Given the description of an element on the screen output the (x, y) to click on. 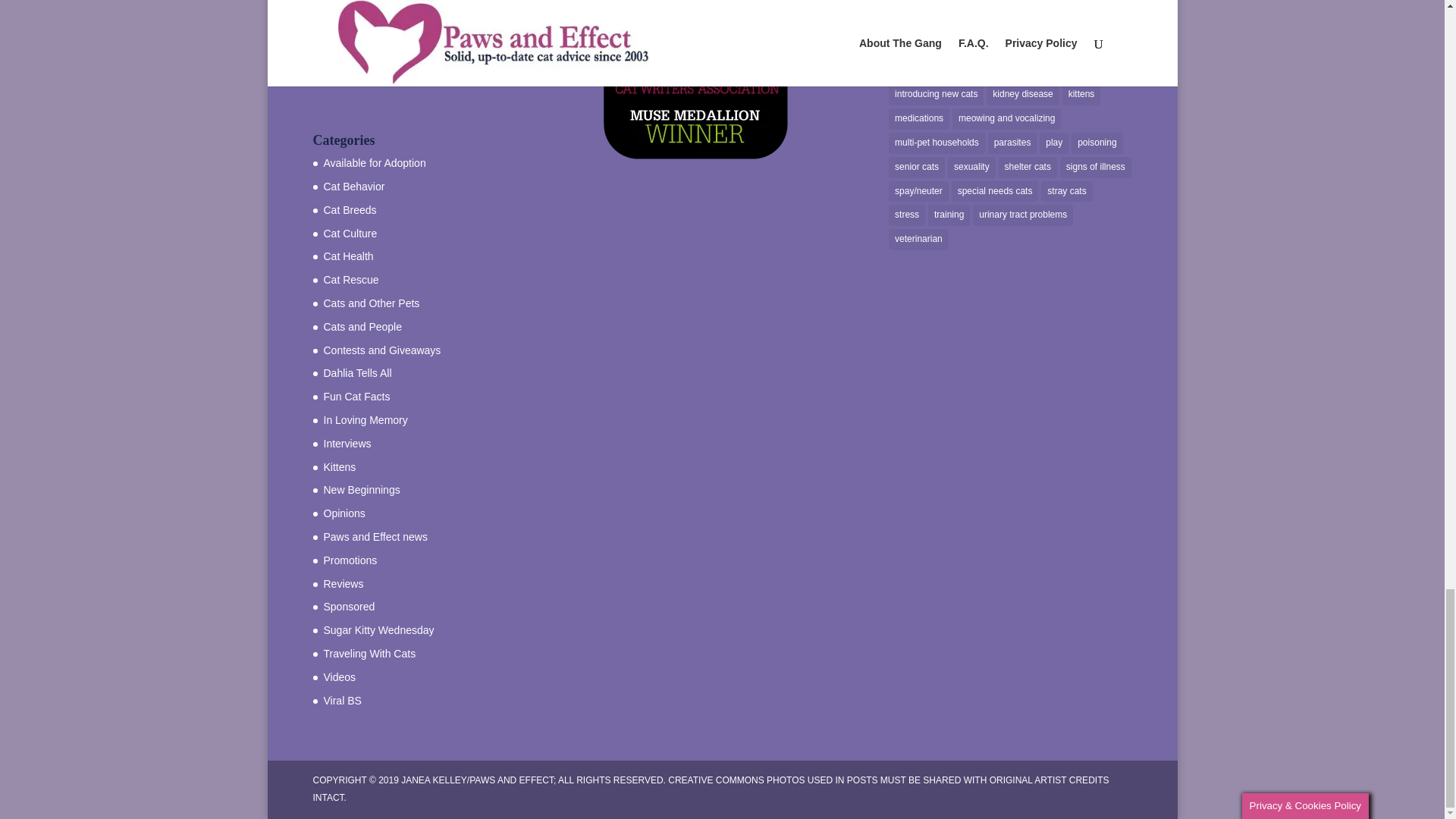
Cat Health (347, 256)
Kittens (339, 467)
Cats and Other Pets (371, 303)
Cat Culture (350, 233)
In Loving Memory (365, 419)
Cat Rescue (350, 279)
Paws and Effect news (374, 536)
Promotions (350, 560)
Cats and People (362, 326)
Dahlia Tells All (357, 372)
Opinions (344, 512)
Contests and Giveaways (382, 349)
New Beginnings (360, 490)
Cat Behavior (353, 186)
Available for Adoption (374, 162)
